Given the description of an element on the screen output the (x, y) to click on. 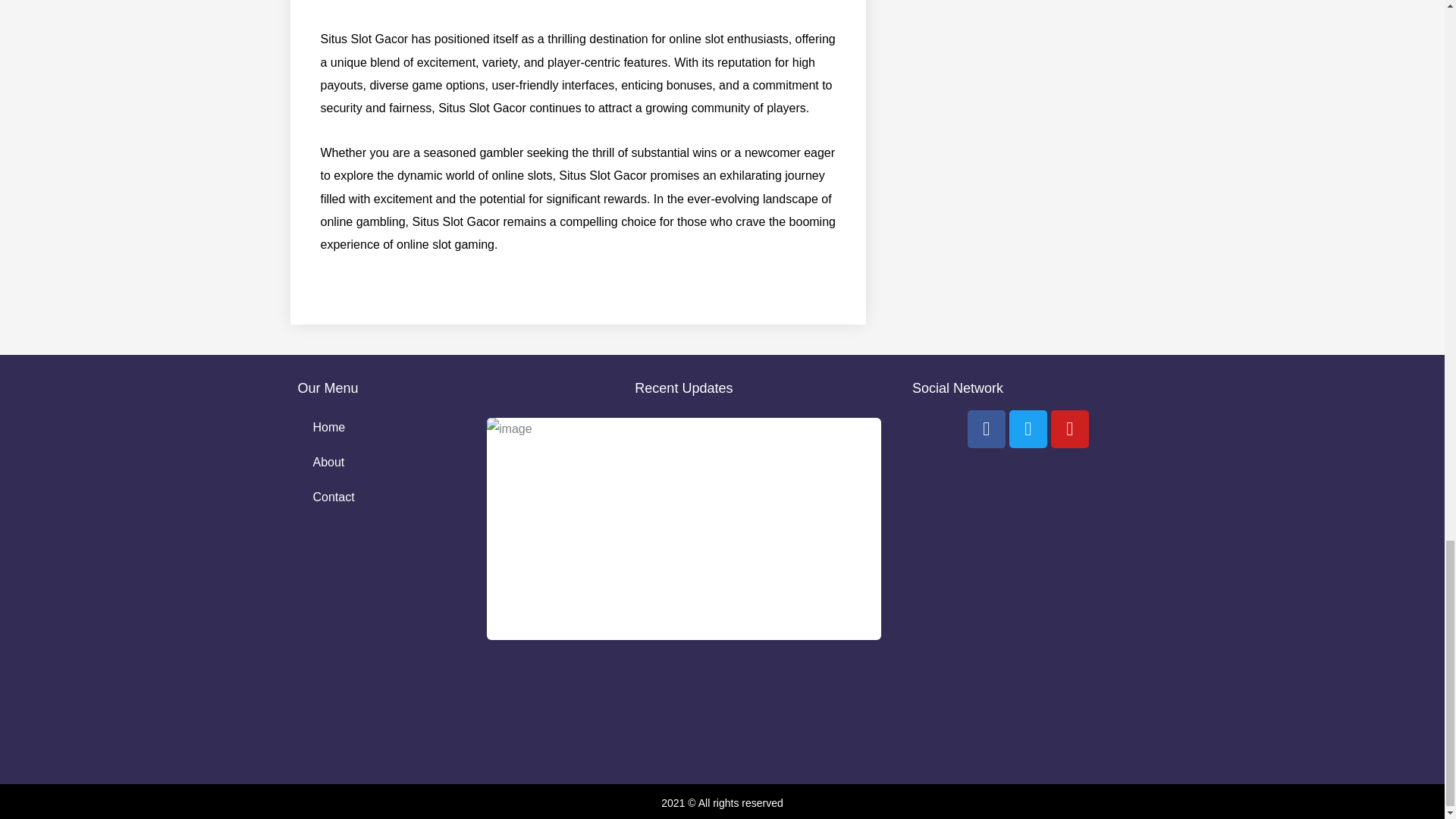
About (375, 462)
Home (375, 427)
image (683, 528)
